Given the description of an element on the screen output the (x, y) to click on. 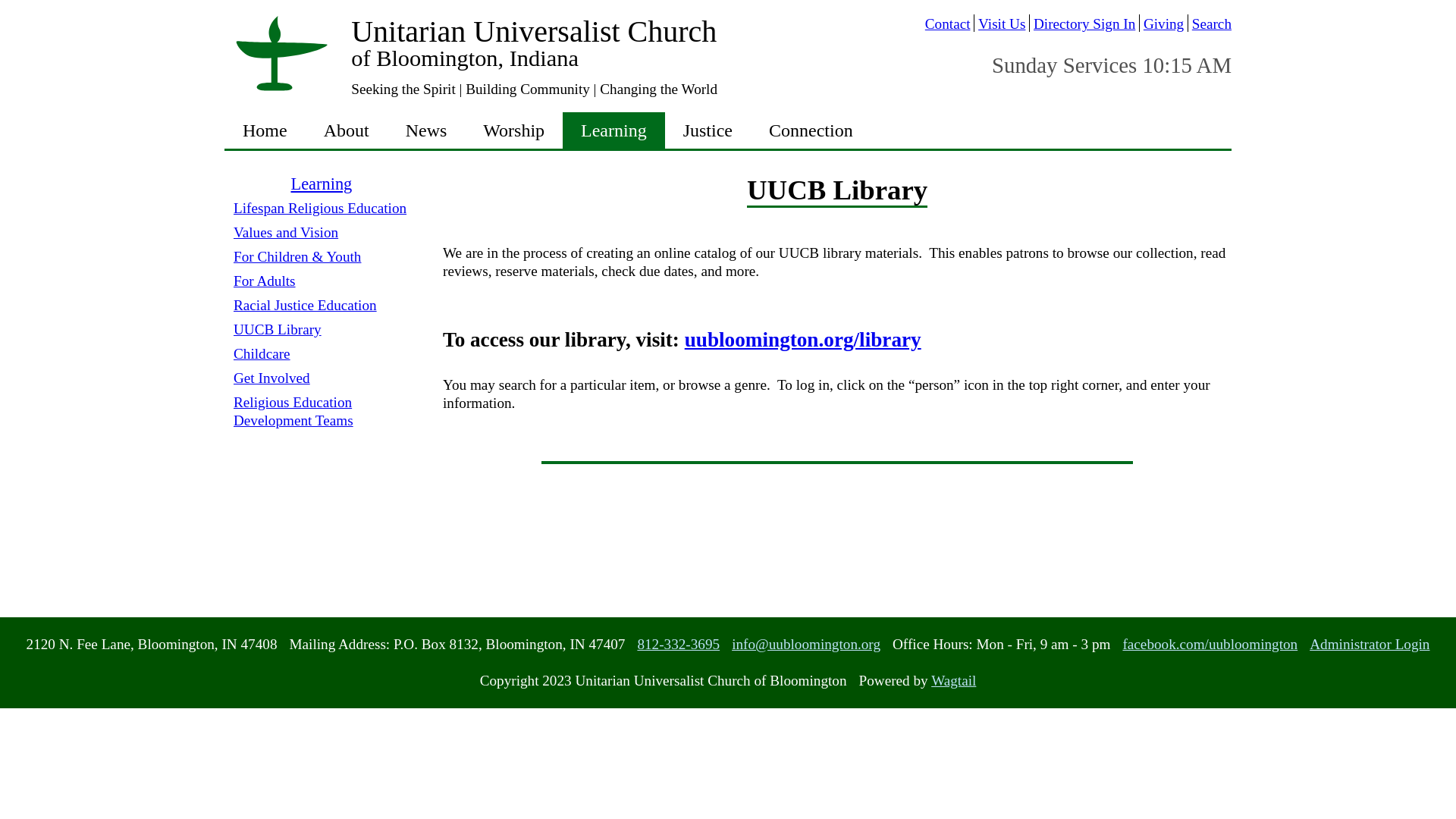
Giving (1160, 22)
Home (264, 130)
Search (1209, 22)
Worship (513, 130)
Visit Us (999, 22)
Contact (947, 22)
About (346, 130)
Directory Sign In (1082, 22)
Learning (613, 130)
News (426, 130)
